Given the description of an element on the screen output the (x, y) to click on. 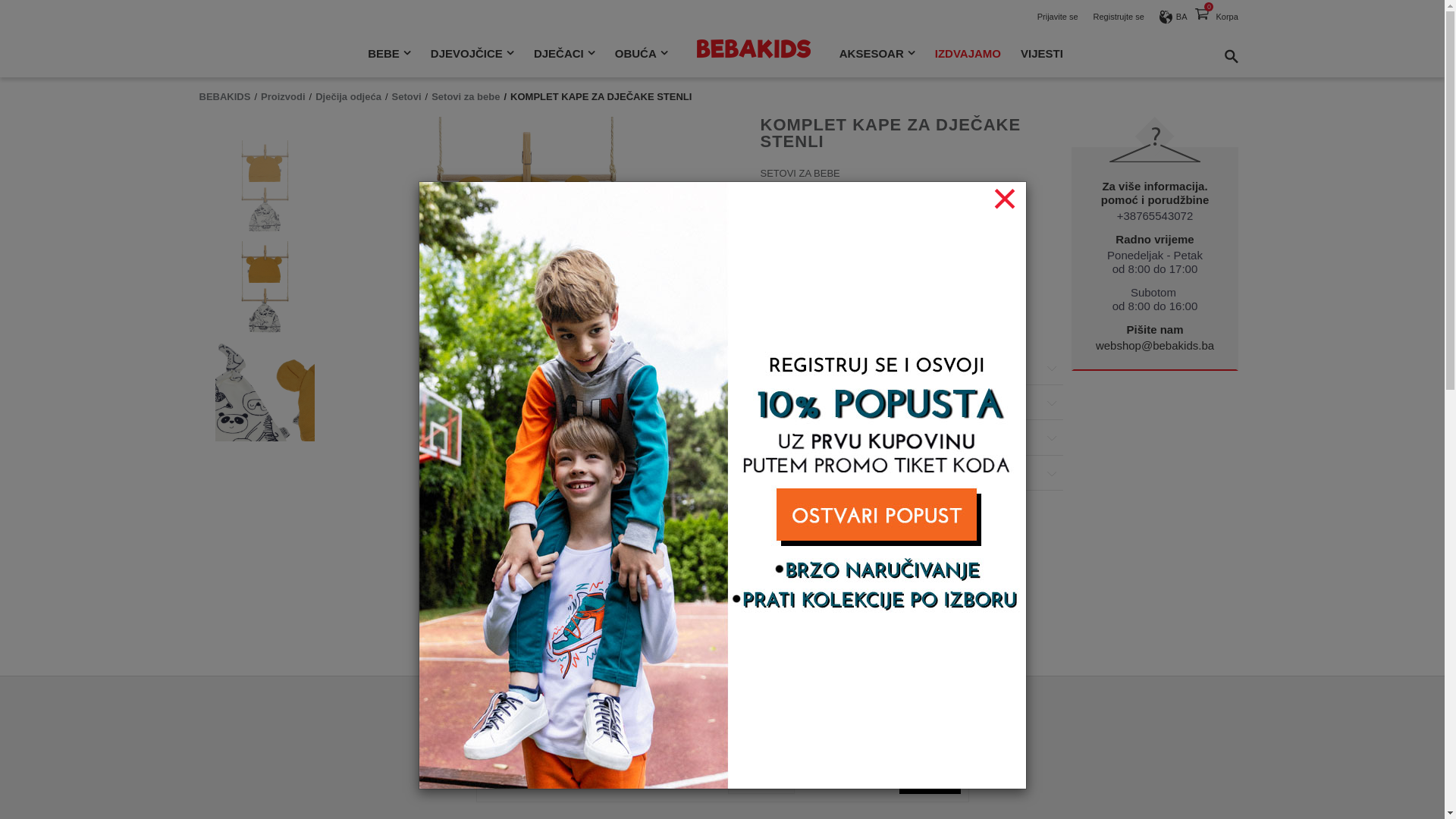
VIJESTI Element type: text (1041, 61)
BEBAKIDS Element type: text (224, 96)
SETOVI ZA BEBE Element type: text (799, 176)
AKSESOAR Element type: text (877, 61)
PROVERI DOSTUPNOST U RADNJAMA Element type: text (912, 473)
Setovi Element type: text (406, 96)
webshop@bebakids.ba Element type: text (1154, 344)
Registrujte se Element type: text (1118, 17)
SASTAV Element type: text (912, 402)
IZDVAJAMO Element type: text (967, 61)
Proizvodi Element type: text (282, 96)
USKORO U PRODAJI Element type: text (821, 306)
BEBE Element type: text (388, 61)
BEBA KIDS Element type: text (753, 40)
PROVERI DOSTUPNOST U RADNJAMA Element type: text (912, 473)
Advertisement popup Element type: hover (721, 483)
O PROIZVODU Element type: text (912, 367)
SPECIFIKACIJA Element type: text (912, 437)
Beba kids Element type: hover (753, 48)
Korpa
0 Element type: text (1201, 16)
Prijavite se Element type: text (1057, 17)
Setovi za bebe Element type: text (465, 96)
